Given the description of an element on the screen output the (x, y) to click on. 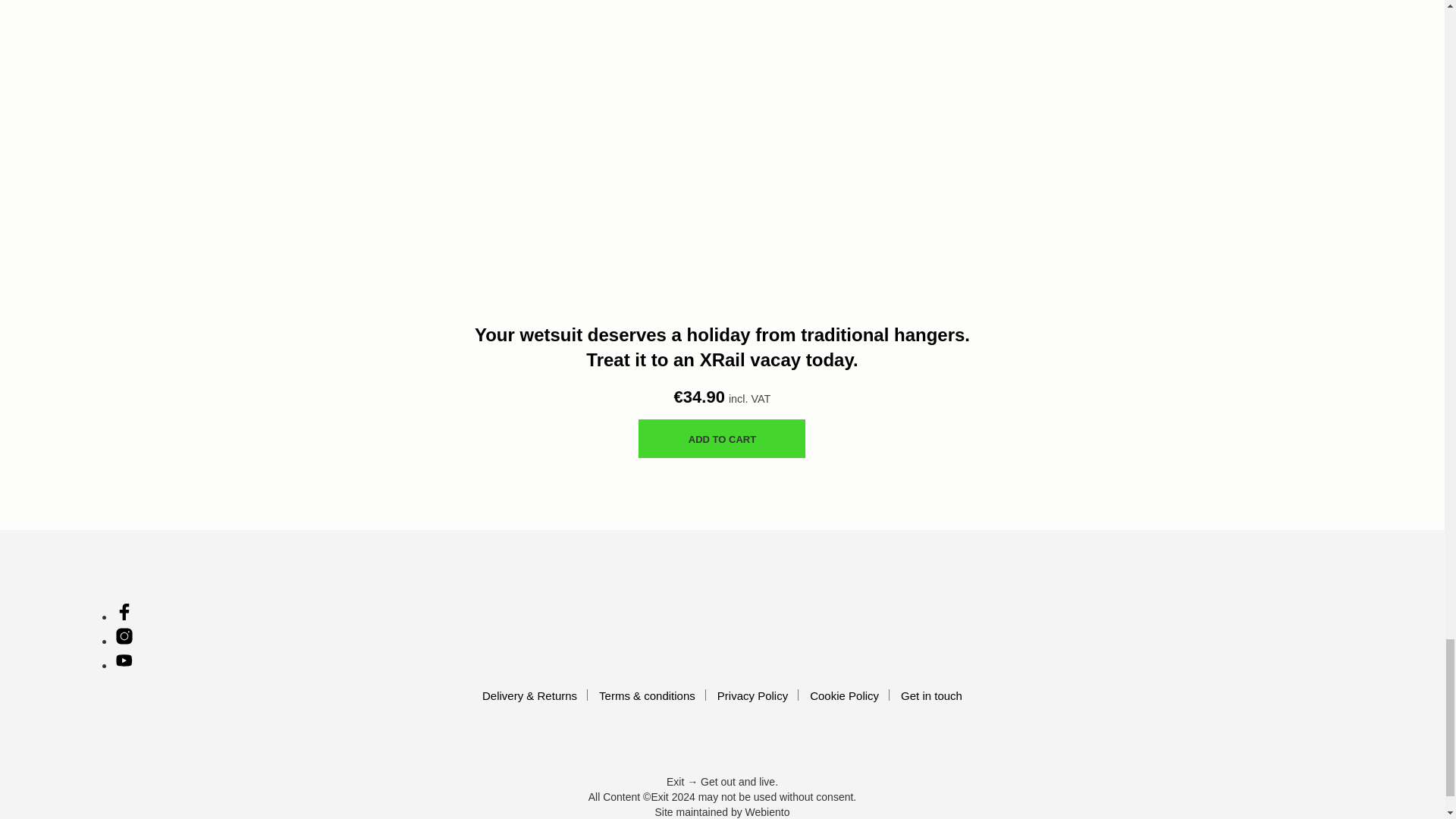
Get in touch (931, 695)
ADD TO CART (722, 438)
Cookie Policy (844, 695)
Webiento (767, 812)
Privacy Policy (752, 695)
